Given the description of an element on the screen output the (x, y) to click on. 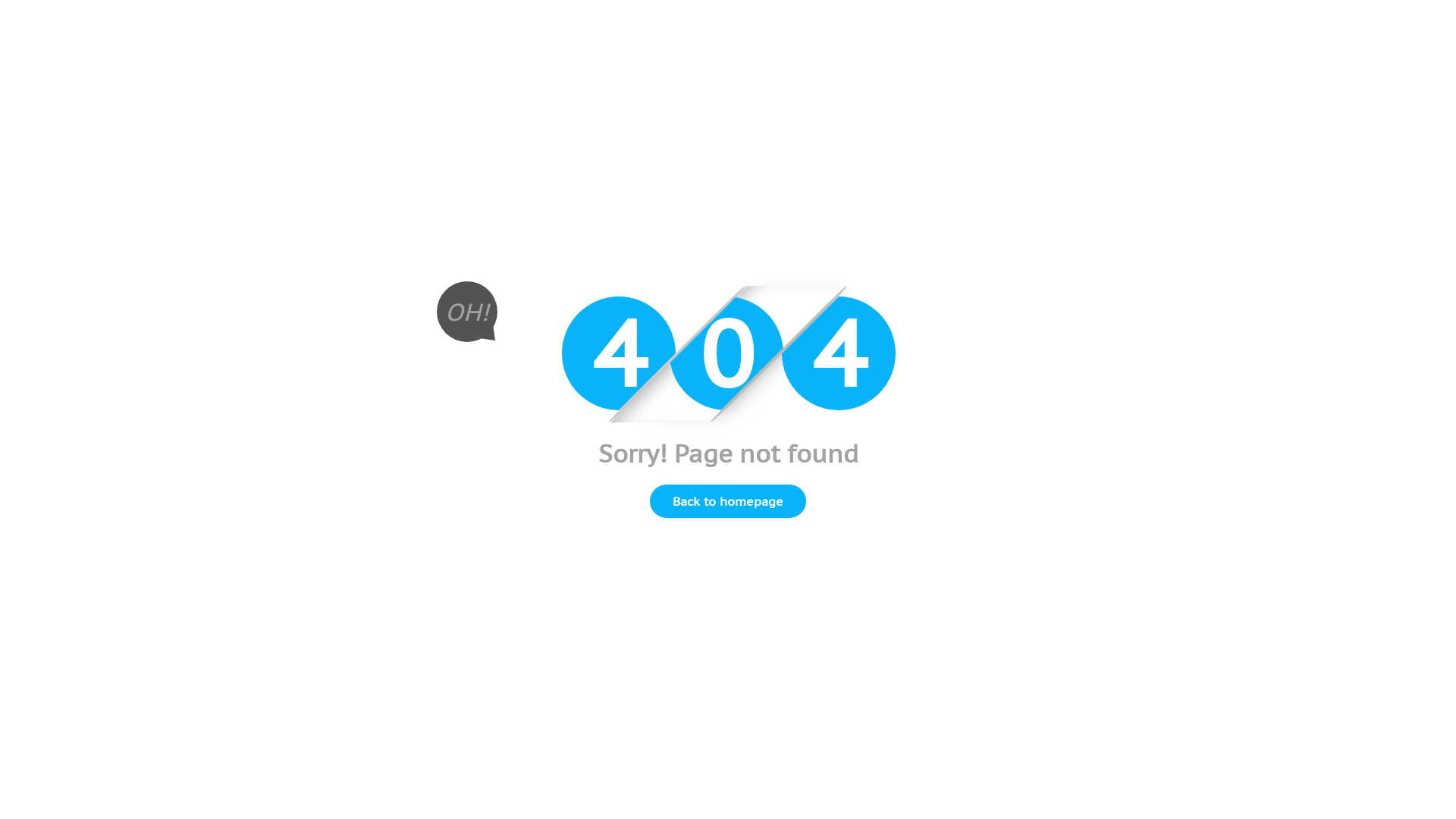
Back to homepage Element type: text (727, 500)
